Given the description of an element on the screen output the (x, y) to click on. 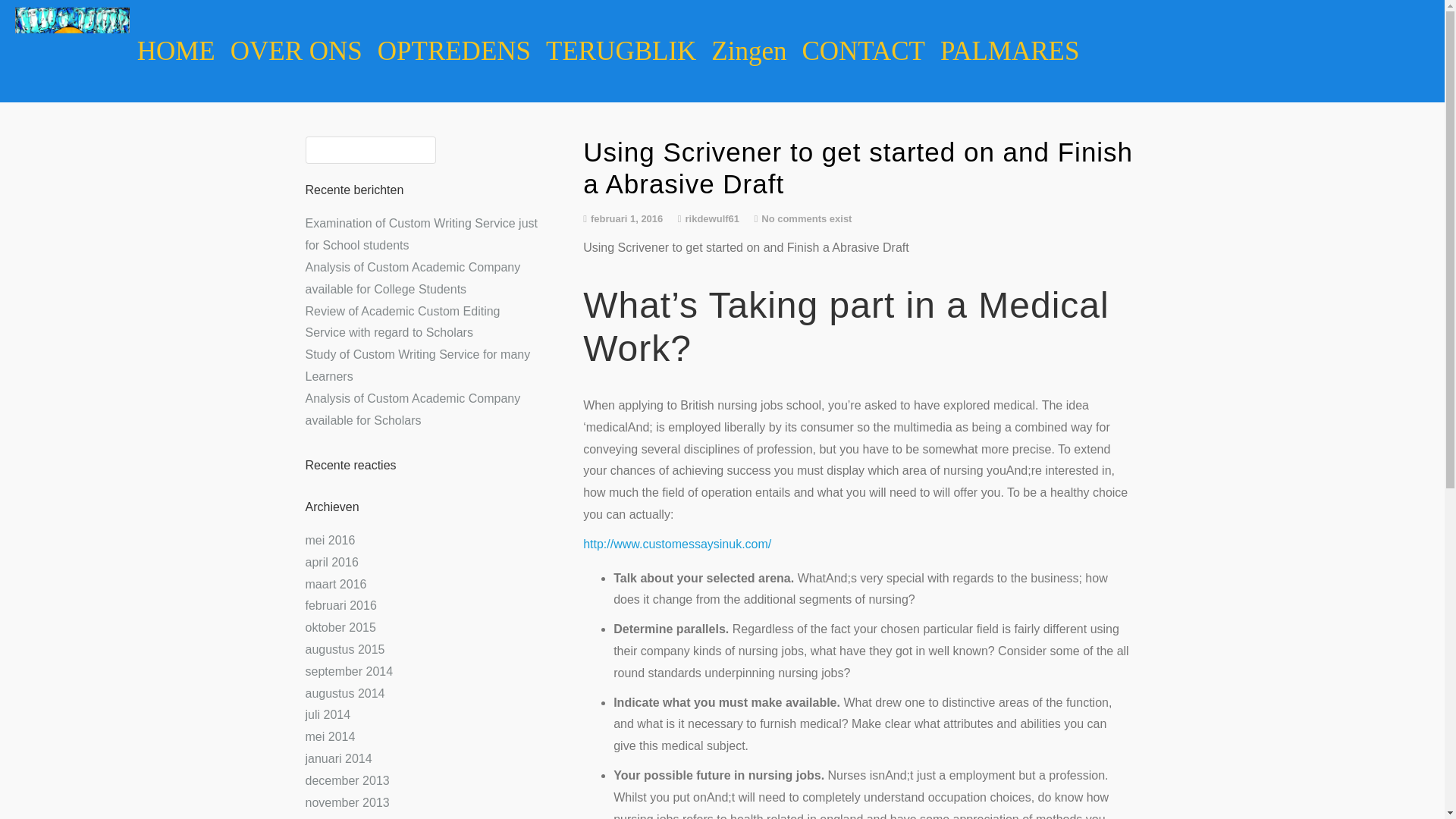
mei 2016 (329, 540)
Study of Custom Writing Service for many Learners (416, 365)
oktober 2015 (339, 626)
OVER ONS (295, 51)
OPTREDENS (453, 51)
Analysis of Custom Academic Company available for Scholars (411, 409)
februari 2016 (339, 604)
juli 2014 (327, 714)
No comments exist (806, 218)
